Given the description of an element on the screen output the (x, y) to click on. 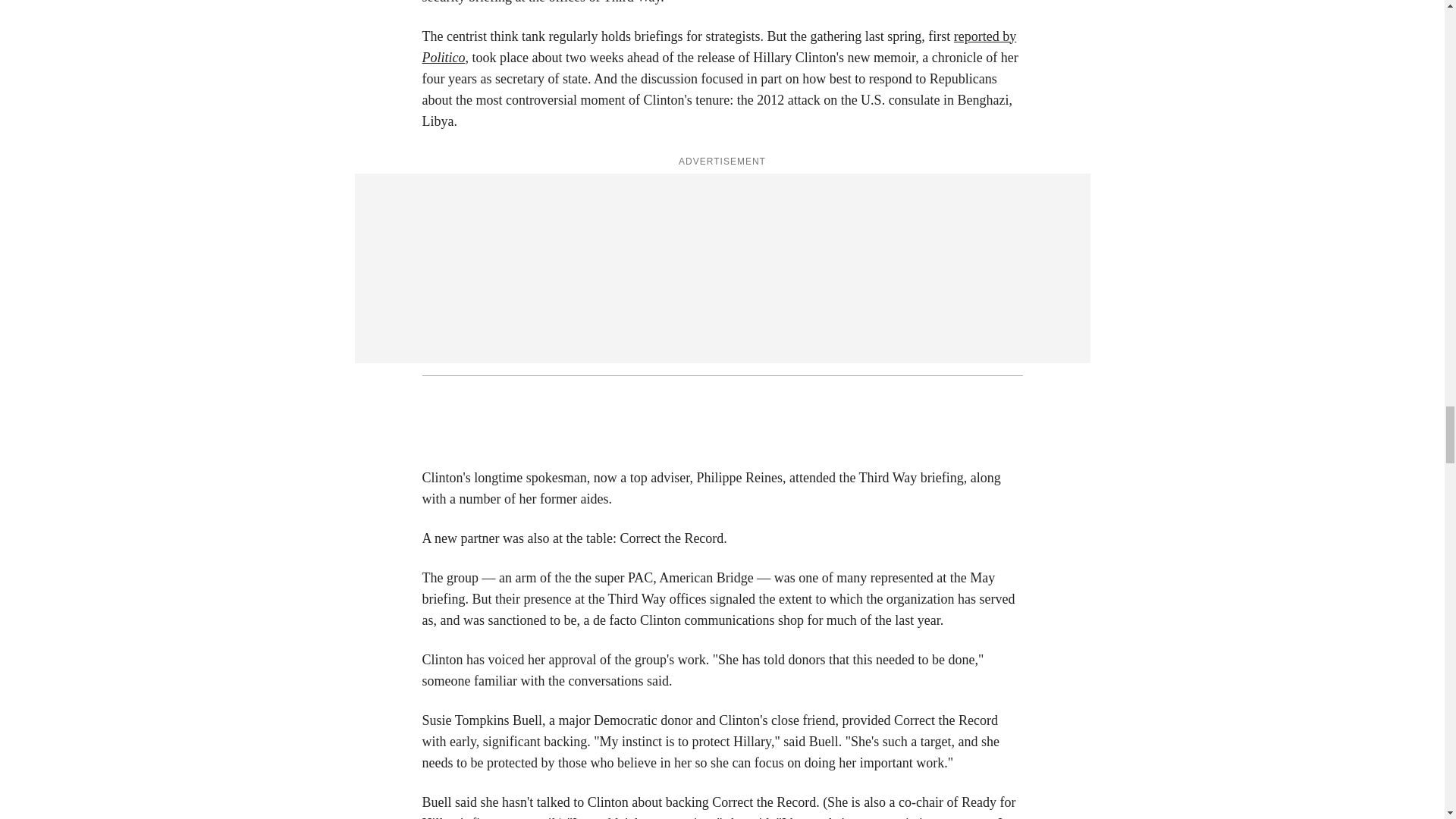
reported by Politico (719, 46)
